Given the description of an element on the screen output the (x, y) to click on. 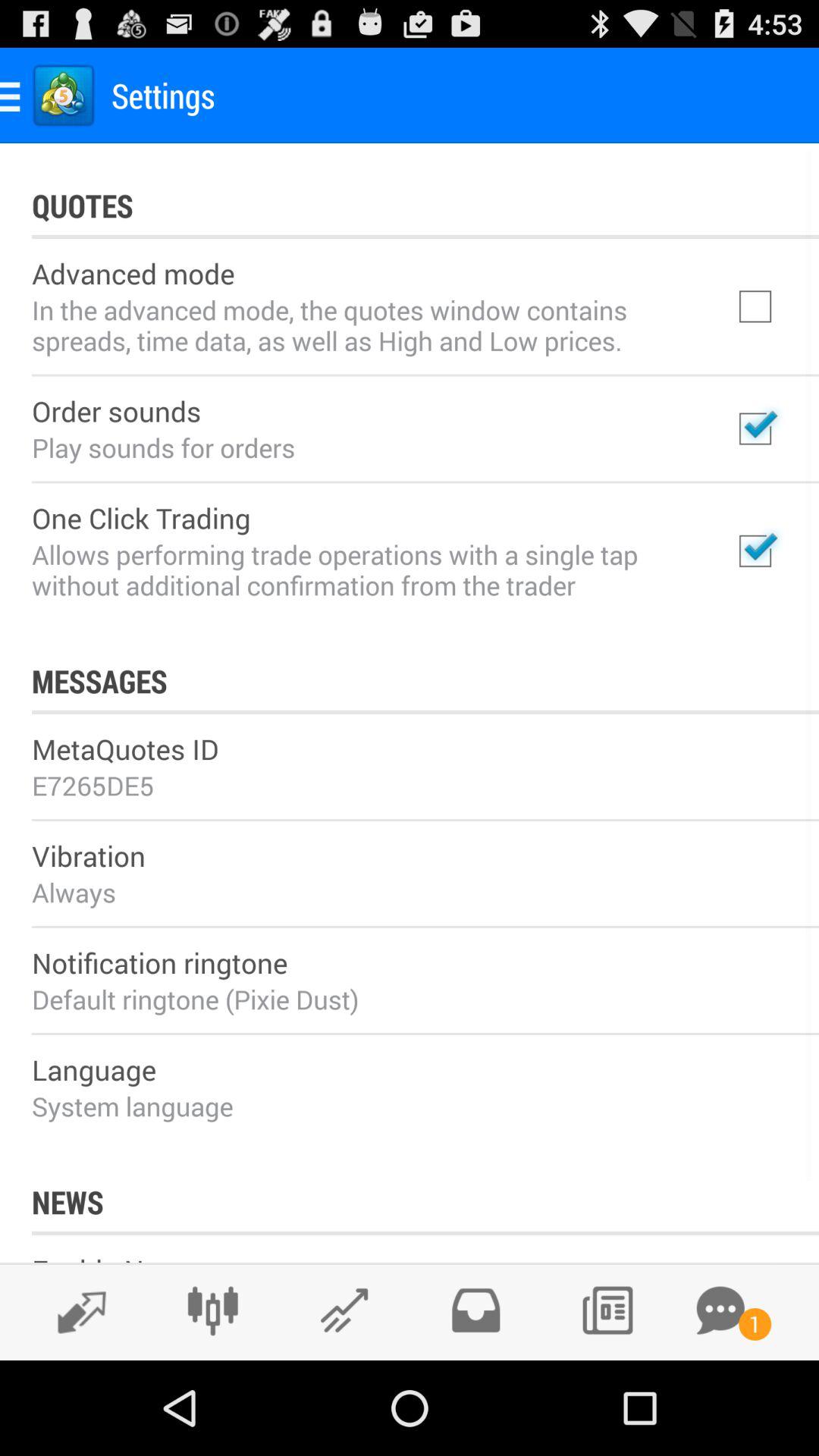
file away for later (475, 1310)
